Given the description of an element on the screen output the (x, y) to click on. 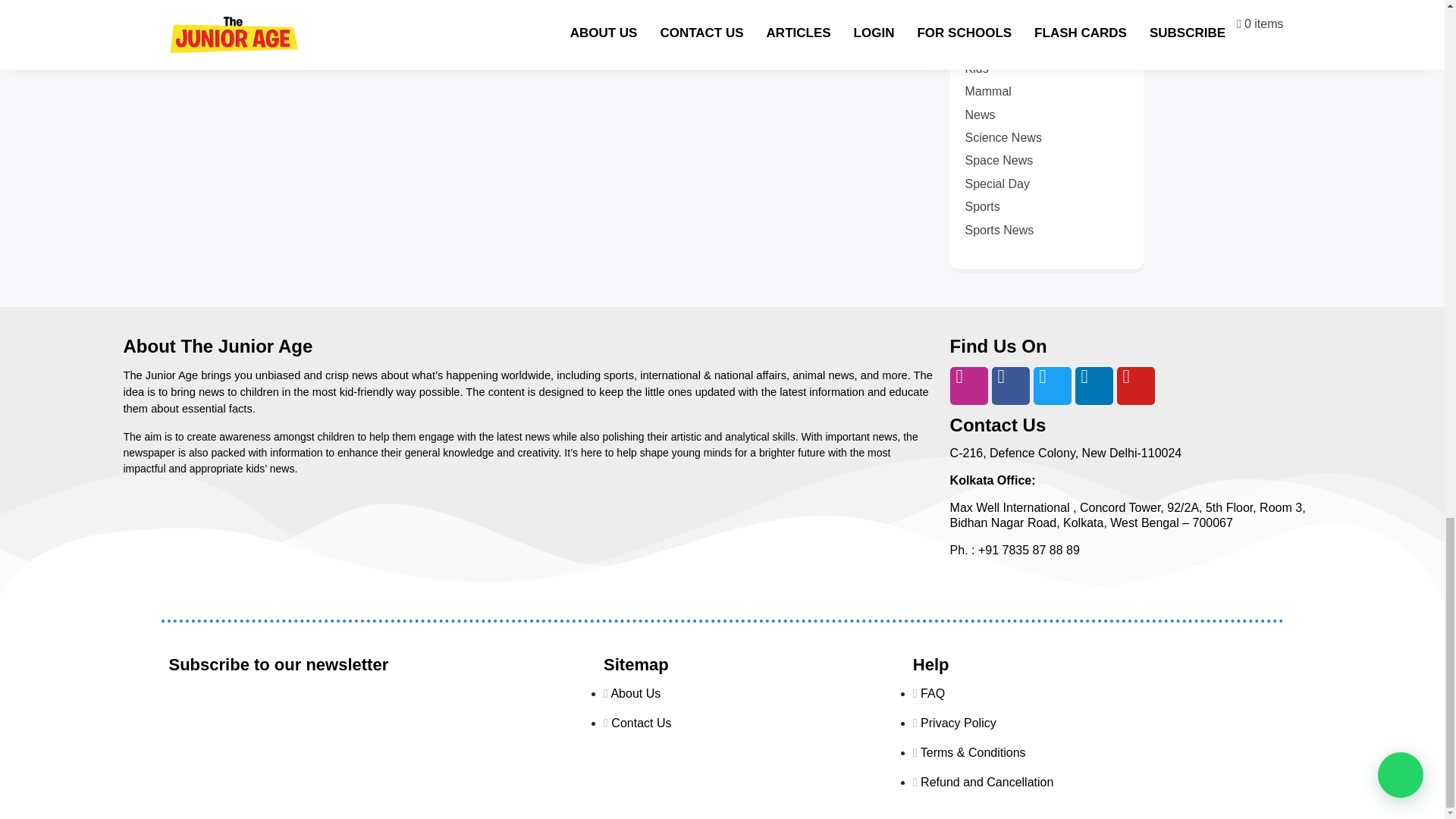
Underwater metro in india (600, 22)
Underwater metro (722, 13)
Underwater metro service (569, 31)
Leave a Comment (702, 31)
Transportation technology (605, 13)
Underwater metro in Kolkata (427, 31)
News (347, 13)
